Given the description of an element on the screen output the (x, y) to click on. 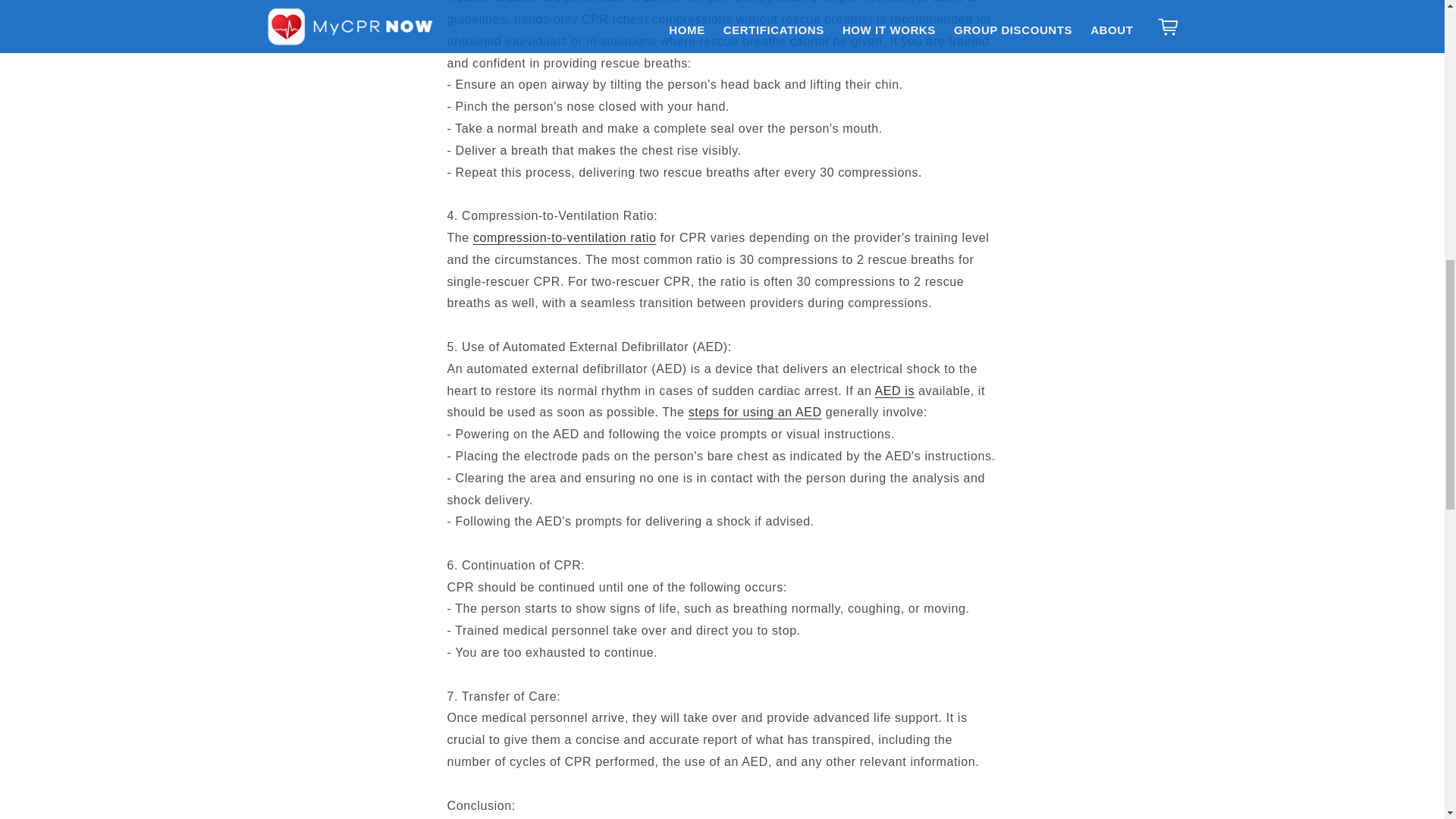
How to Use an AED: A Step-by-Step Guide  (755, 411)
What Is An AED and Where Are They Found?  (895, 390)
compression-to-ventilation ratio (564, 237)
First Aid Certification (564, 237)
steps for using an AED (755, 411)
AED is (895, 390)
